Given the description of an element on the screen output the (x, y) to click on. 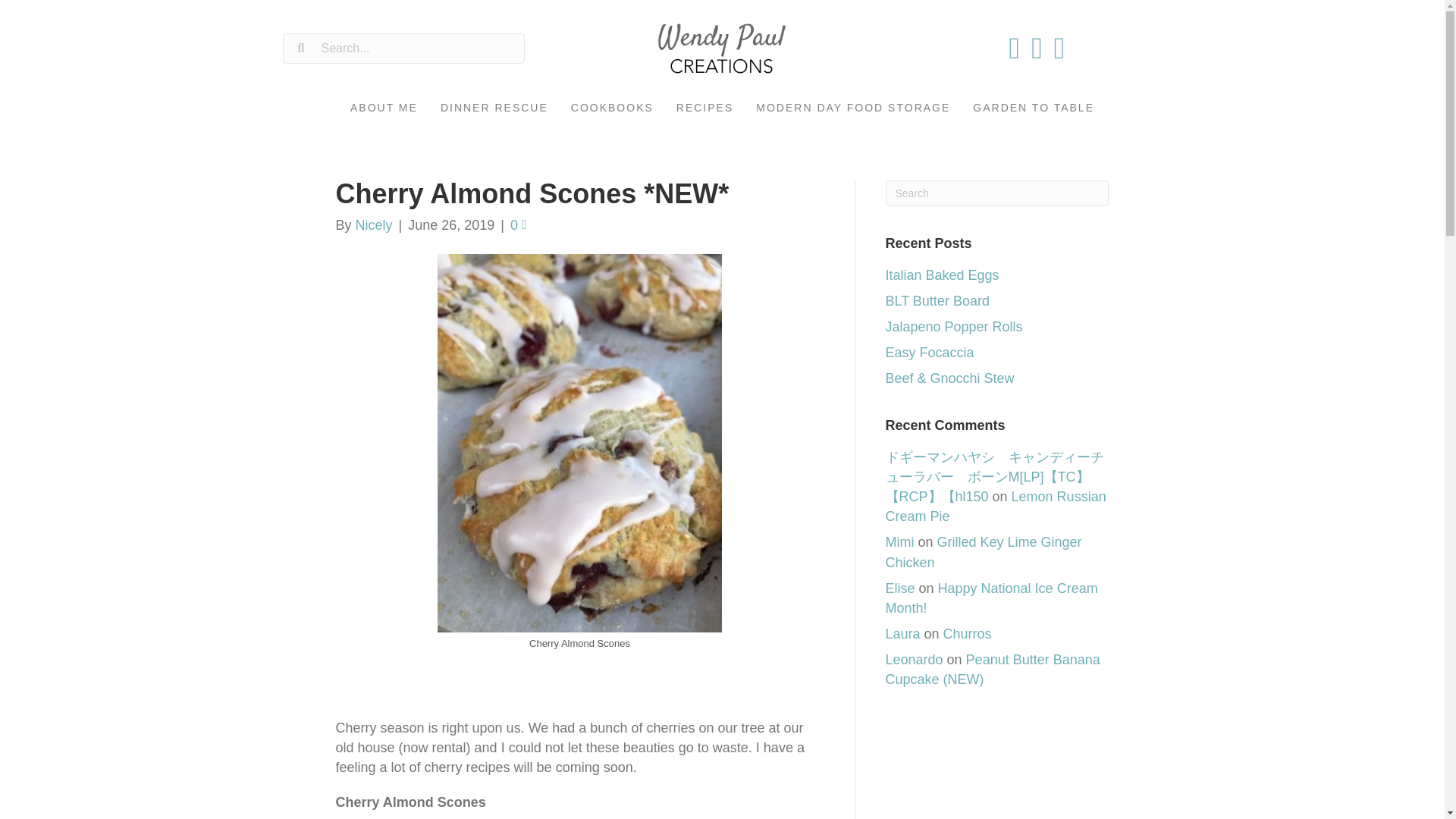
GARDEN TO TABLE (1033, 108)
Nicely (374, 224)
DINNER RESCUE (494, 108)
0 (519, 224)
RECIPES (704, 108)
ABOUT ME (383, 108)
Wendy Paul Creations (722, 48)
Type and press Enter to search. (997, 193)
MODERN DAY FOOD STORAGE (853, 108)
COOKBOOKS (612, 108)
